Given the description of an element on the screen output the (x, y) to click on. 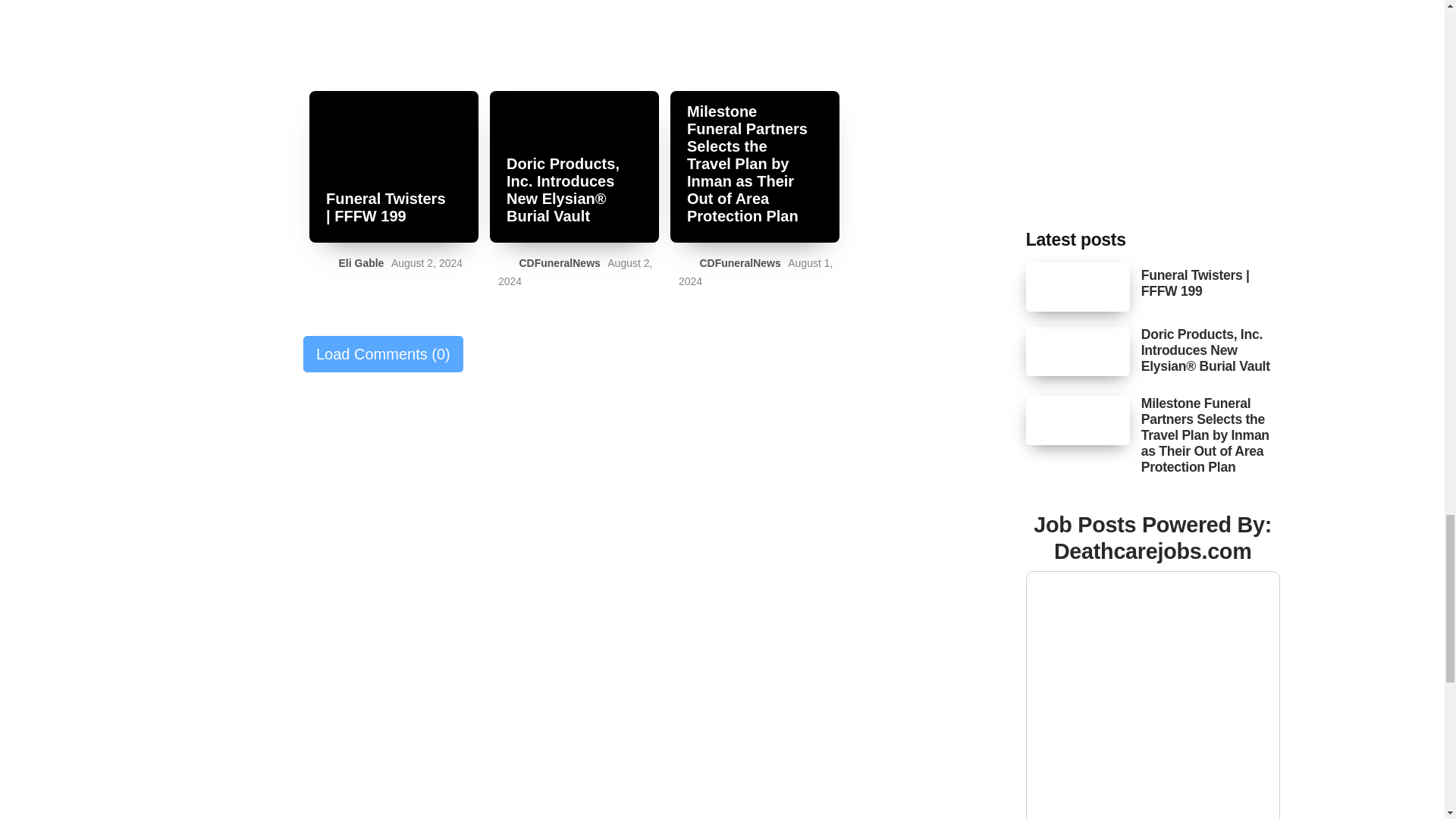
Posts by CDFuneralNews (558, 263)
Posts by Eli Gable (360, 263)
Posts by CDFuneralNews (739, 263)
